Given the description of an element on the screen output the (x, y) to click on. 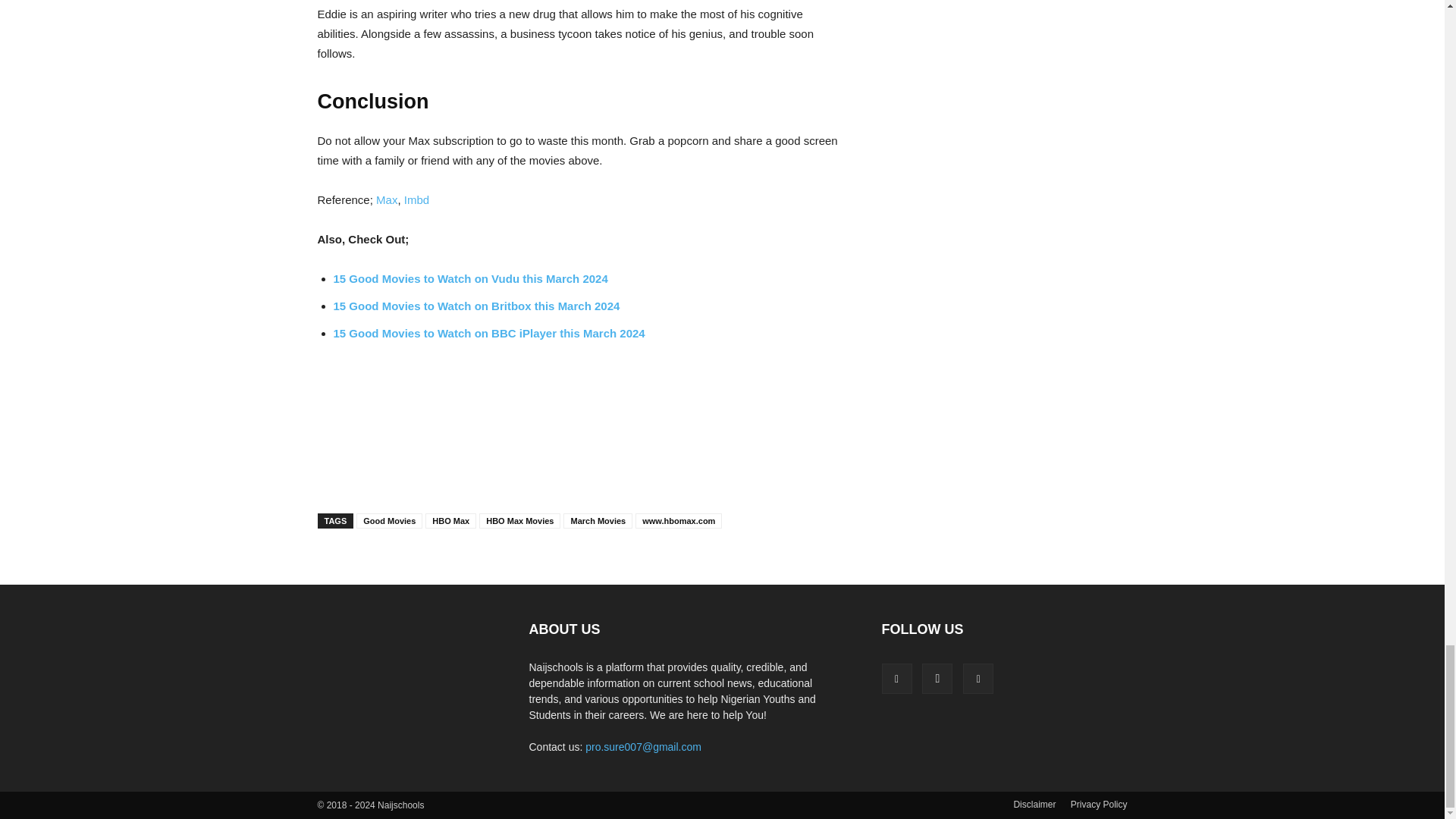
15 Good Movies to Watch on Britbox this March 2024 (476, 305)
15 Good Movies to Watch on BBC iPlayer this March 2024 (489, 332)
15 Good Movies to Watch on Vudu this March 2024 (470, 278)
Facebook (895, 678)
